Given the description of an element on the screen output the (x, y) to click on. 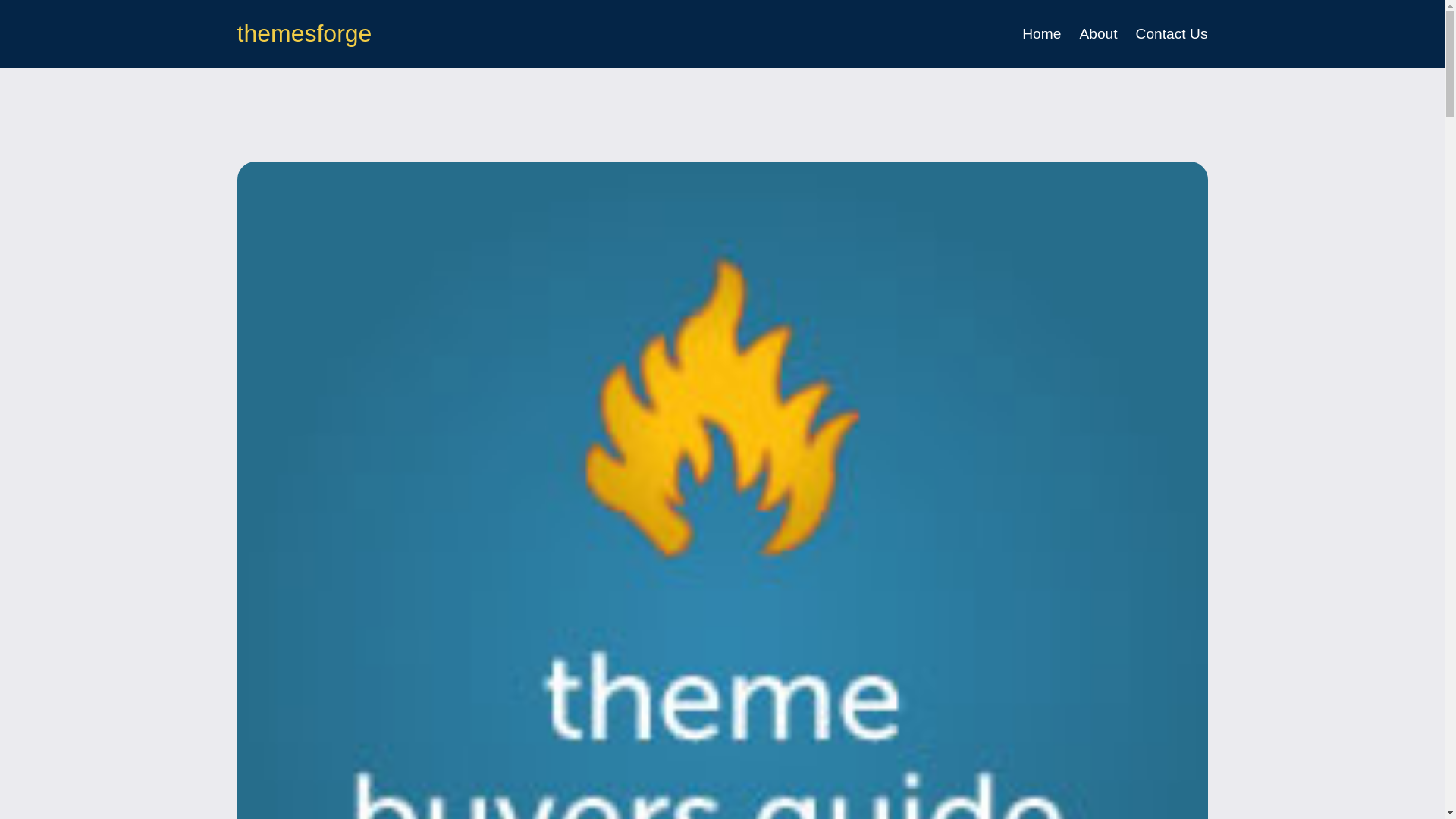
Contact Us (1171, 33)
About (1097, 33)
themesforge (303, 32)
Home (1041, 33)
